Given the description of an element on the screen output the (x, y) to click on. 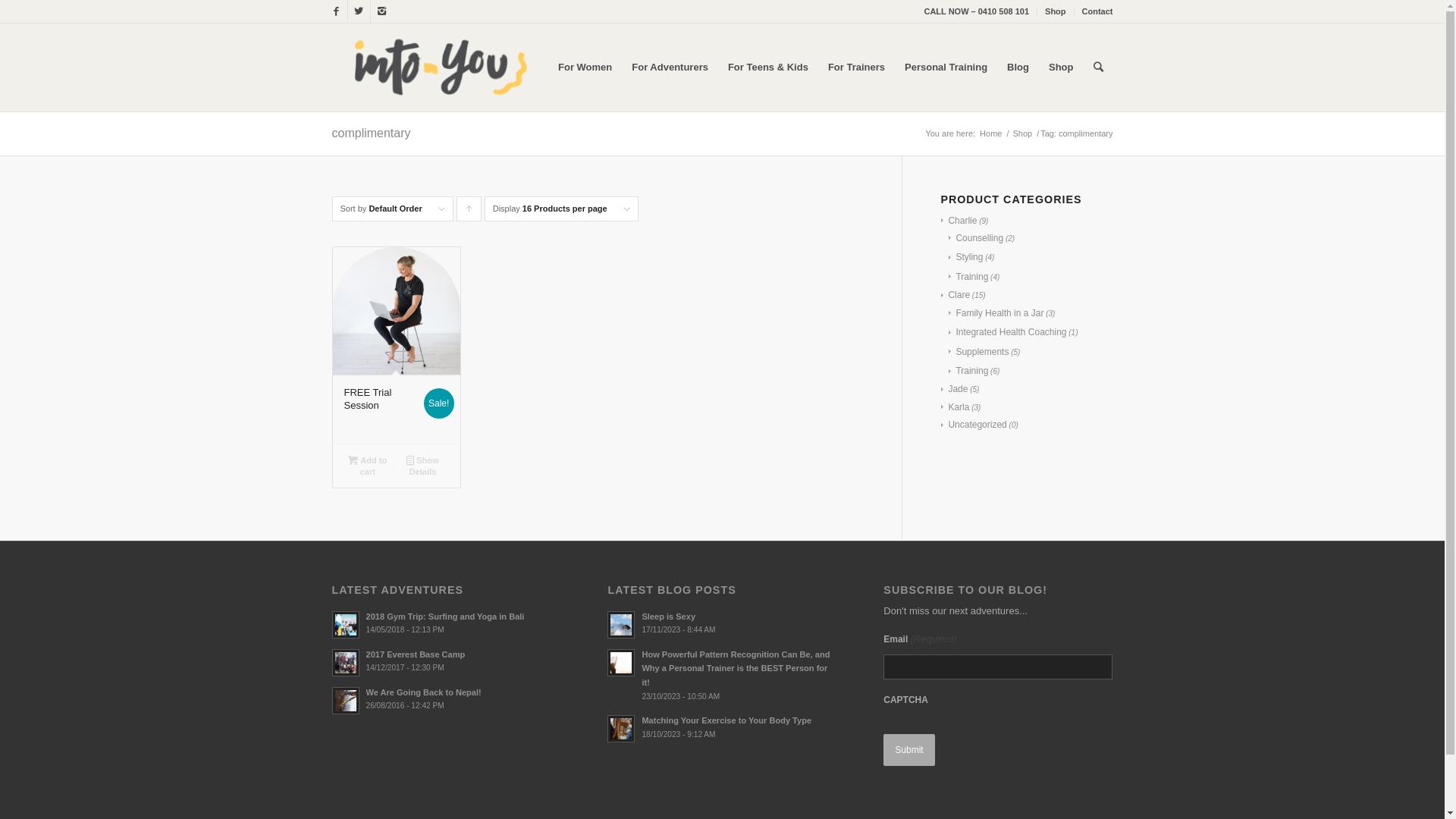
Add to cart Element type: text (367, 465)
Facebook Element type: hover (335, 11)
Jade Element type: text (954, 388)
Charlie Element type: text (958, 220)
Contact Element type: text (1097, 11)
Training Element type: text (968, 276)
For Women Element type: text (584, 67)
Show Details Element type: text (422, 465)
Instagram Element type: hover (381, 11)
Training Element type: text (968, 370)
Home Element type: text (990, 133)
For Trainers Element type: text (856, 67)
Sleep is Sexy
17/11/2023 - 8:44 AM Element type: text (721, 623)
Shop Element type: text (1060, 67)
Karla Element type: text (955, 406)
Clare Element type: text (955, 294)
Styling Element type: text (965, 256)
Uncategorized Element type: text (973, 424)
Shop Element type: text (1055, 11)
For Teens & Kids Element type: text (768, 67)
Blog Element type: text (1017, 67)
Submit Element type: text (908, 749)
Twitter Element type: hover (358, 11)
Counselling Element type: text (975, 237)
Supplements Element type: text (978, 351)
2017 Everest Base Camp
14/12/2017 - 12:30 PM Element type: text (446, 661)
Integrated Health Coaching Element type: text (1007, 331)
FREE Trial Session
Sale! Element type: text (395, 345)
We Are Going Back to Nepal!
26/08/2016 - 12:42 PM Element type: text (446, 699)
Personal Training Element type: text (945, 67)
For Adventurers Element type: text (669, 67)
Shop Element type: text (1022, 133)
Click to order products ascending Element type: text (468, 208)
Family Health in a Jar Element type: text (995, 312)
